Given the description of an element on the screen output the (x, y) to click on. 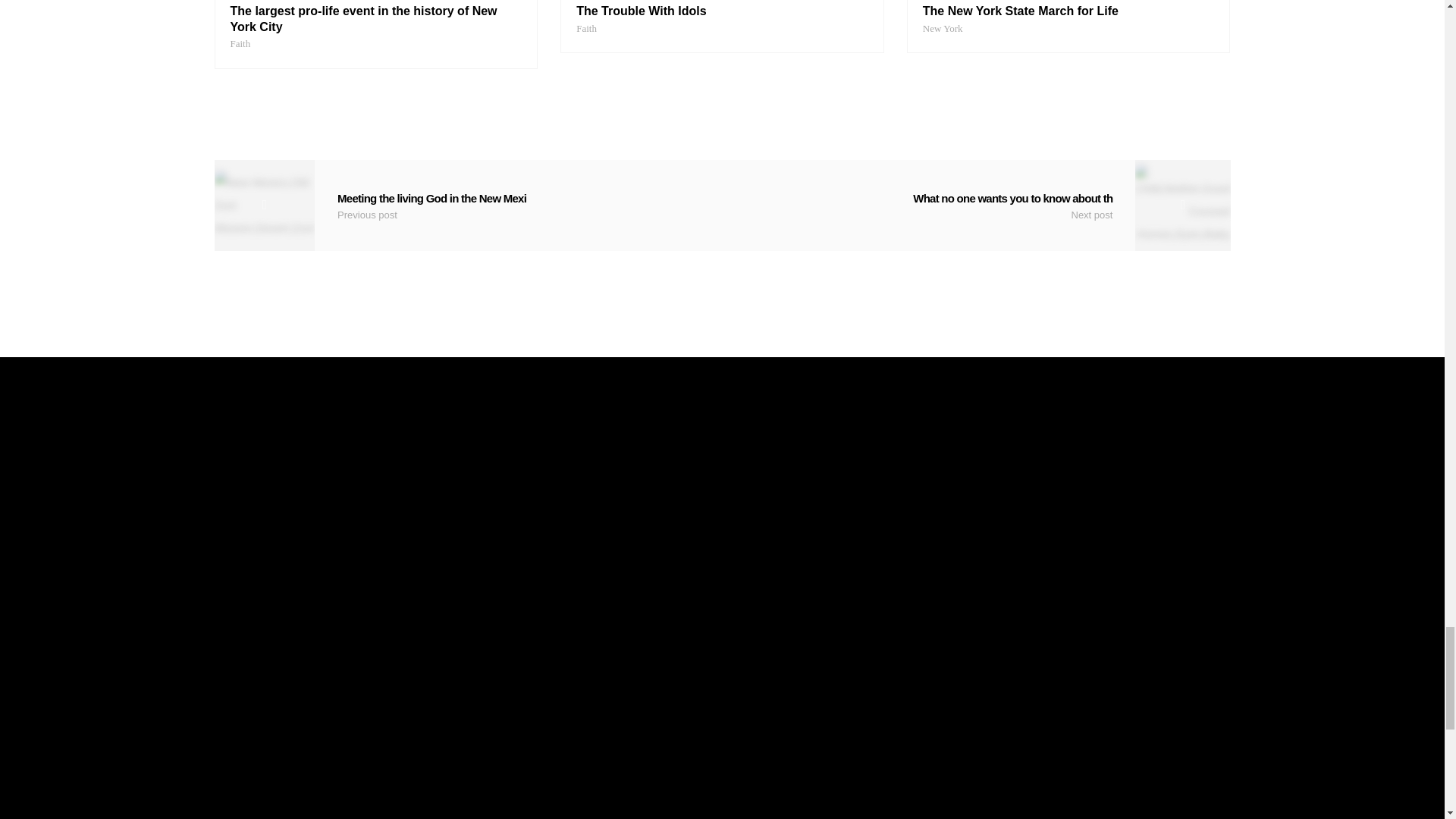
The largest pro-life event in the history of New York City (376, 28)
Meeting the living God in the New Mexico desert (468, 204)
The New York State March for Life (1068, 20)
What no one wants you to know about the pro-life movement (976, 204)
The Trouble With Idols (721, 20)
